Given the description of an element on the screen output the (x, y) to click on. 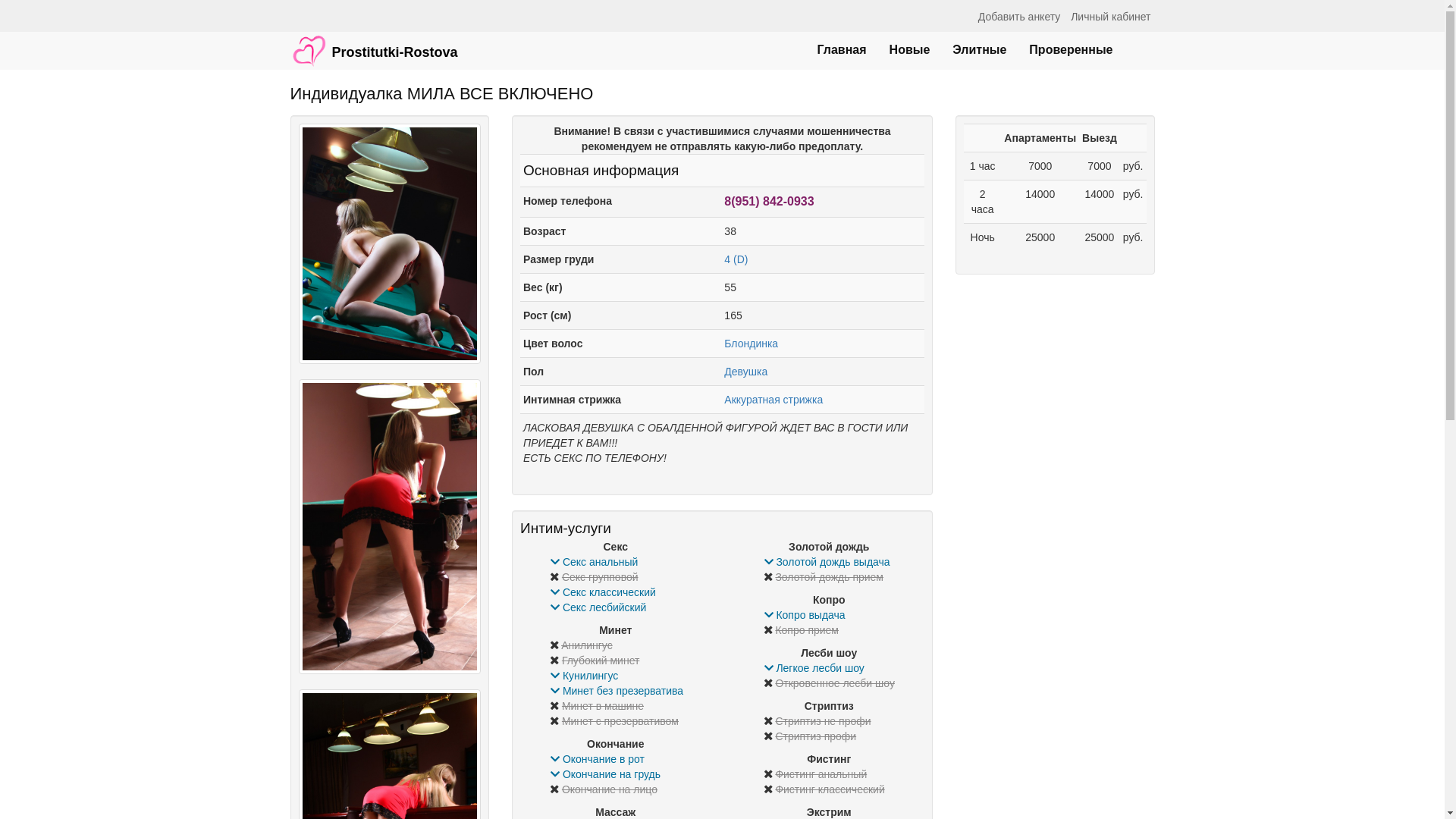
4 (D) Element type: text (735, 259)
Prostitutki-Rostova Element type: text (374, 43)
